Given the description of an element on the screen output the (x, y) to click on. 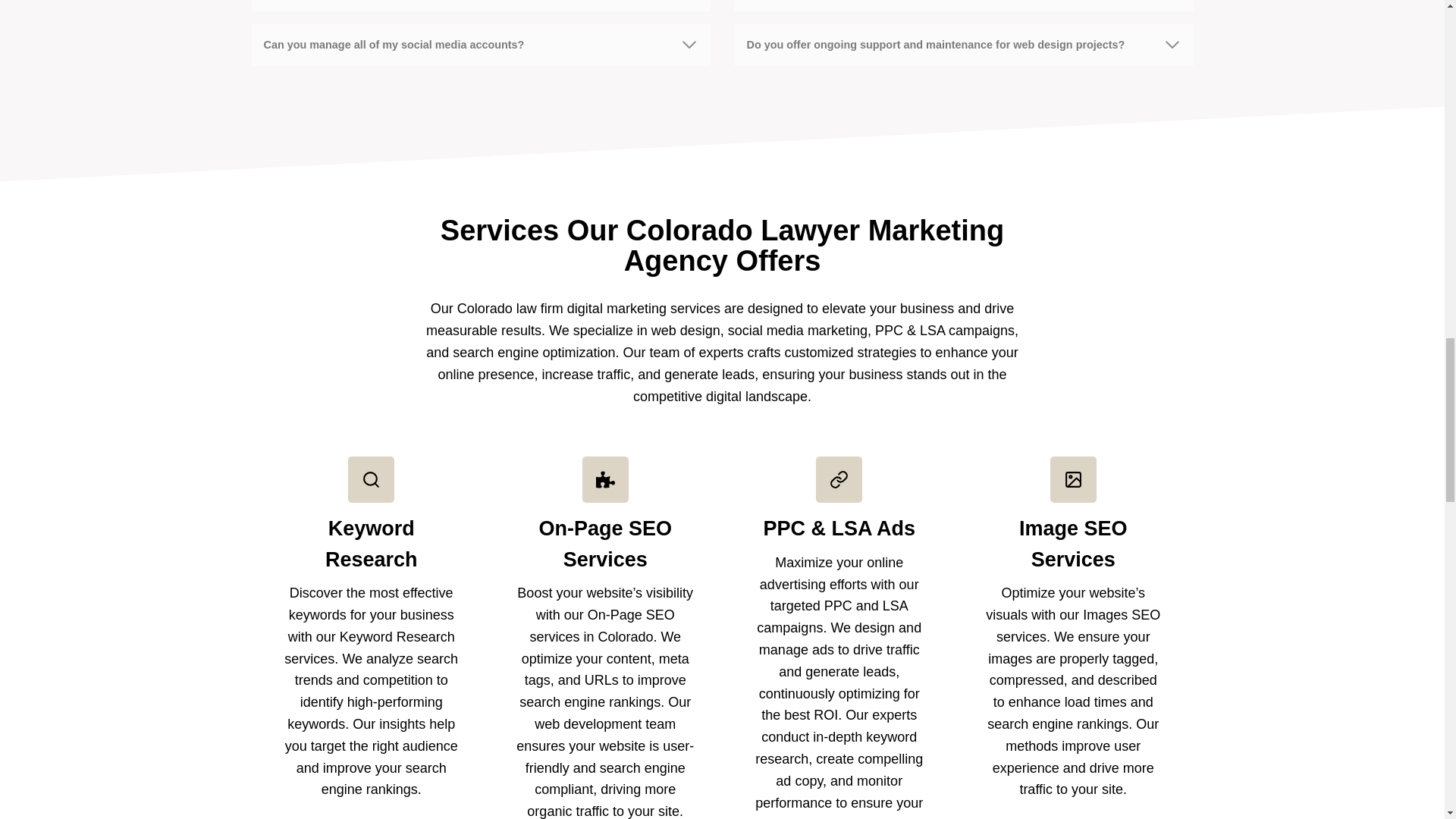
Can you manage all of my social media accounts? (480, 44)
How long does it take to see results from SEO efforts? (962, 5)
